Given the description of an element on the screen output the (x, y) to click on. 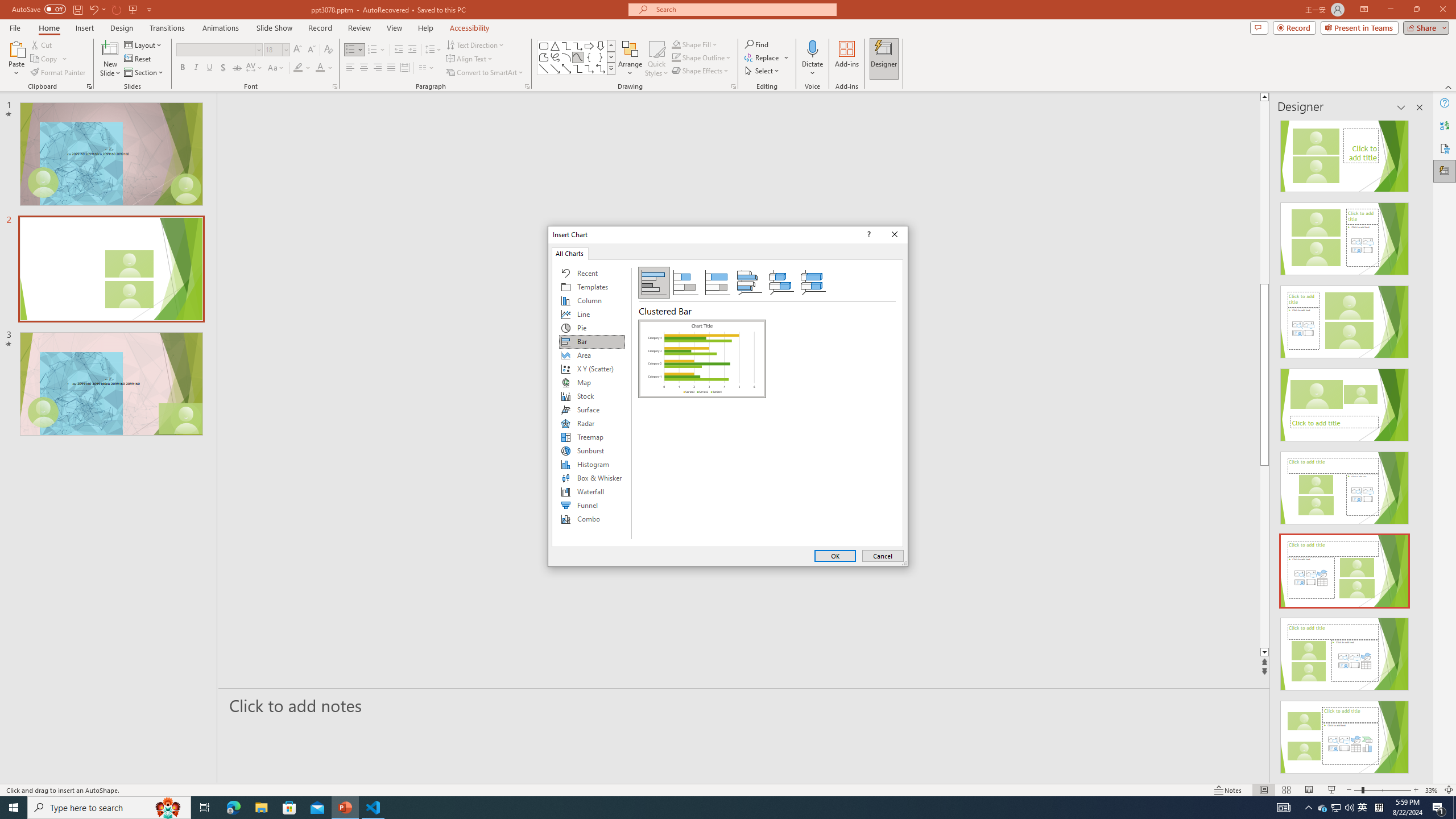
Stacked Bar (685, 282)
Bold (182, 67)
Radar (591, 423)
Strikethrough (237, 67)
Shape Effects (700, 69)
Font... (334, 85)
Map (591, 382)
Decrease Indent (398, 49)
Design Idea (1344, 733)
